Given the description of an element on the screen output the (x, y) to click on. 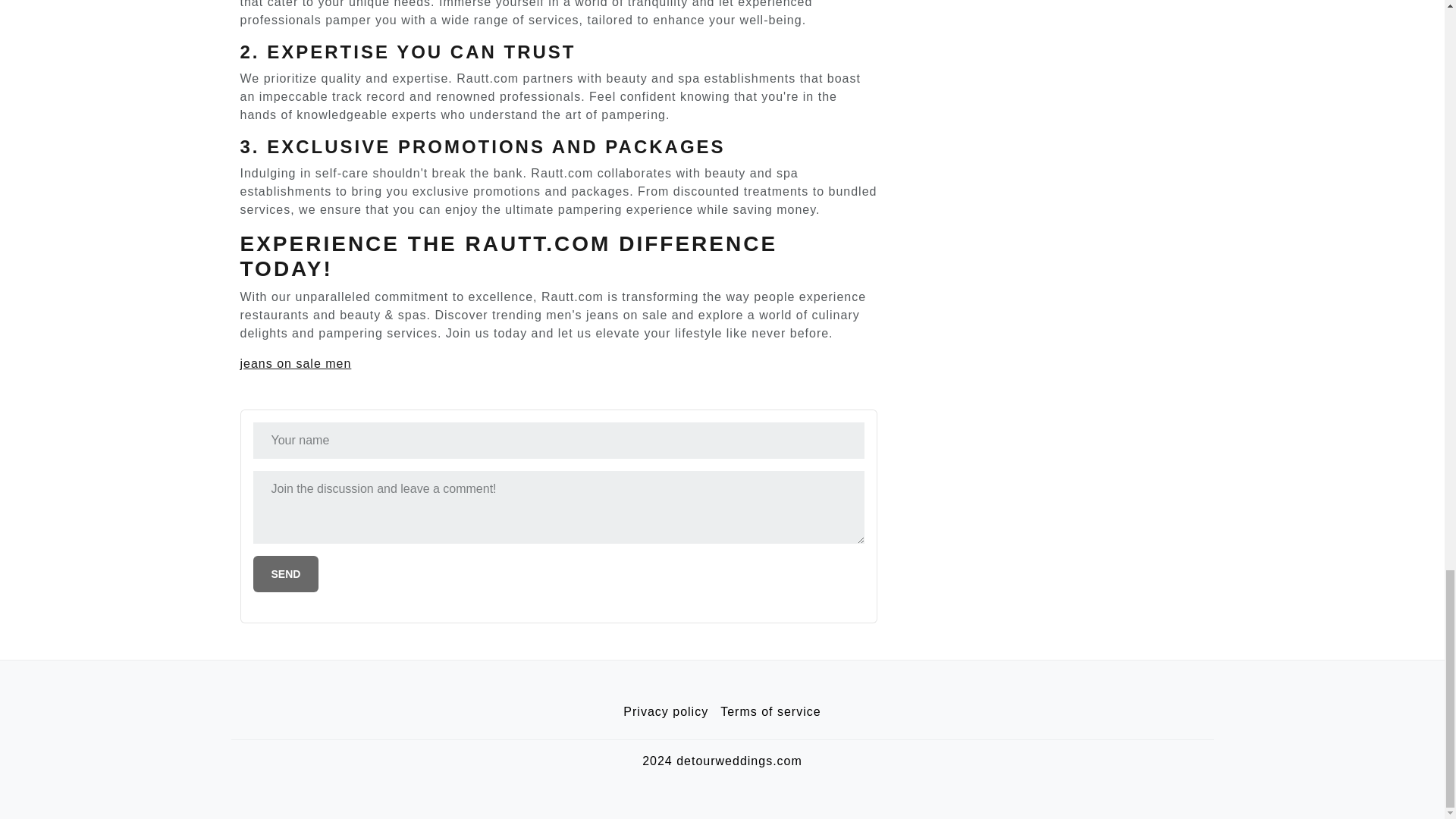
Send (285, 574)
jeans on sale men (295, 363)
Terms of service (770, 711)
Send (285, 574)
Privacy policy (665, 711)
